Given the description of an element on the screen output the (x, y) to click on. 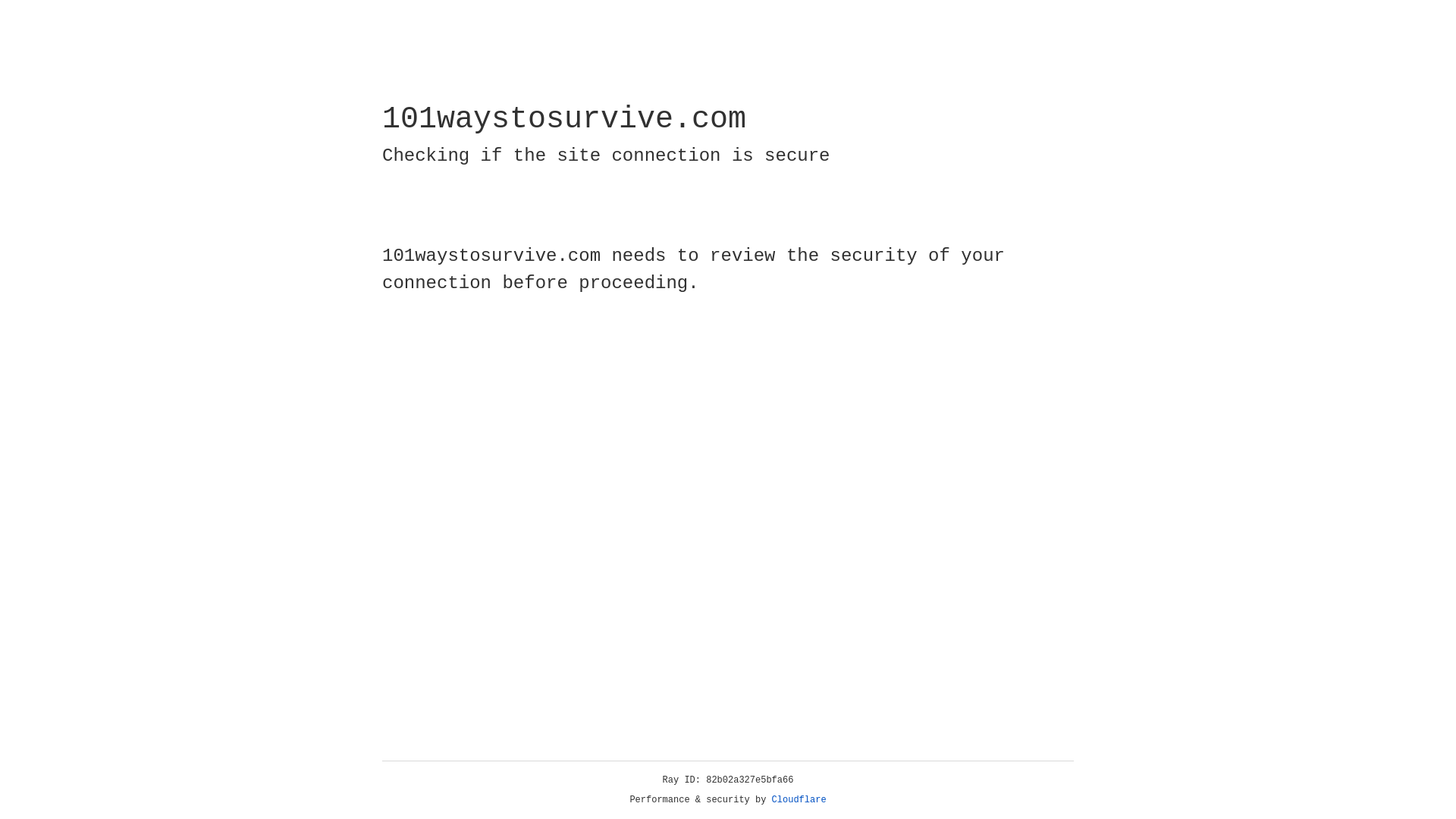
Cloudflare Element type: text (798, 799)
